Given the description of an element on the screen output the (x, y) to click on. 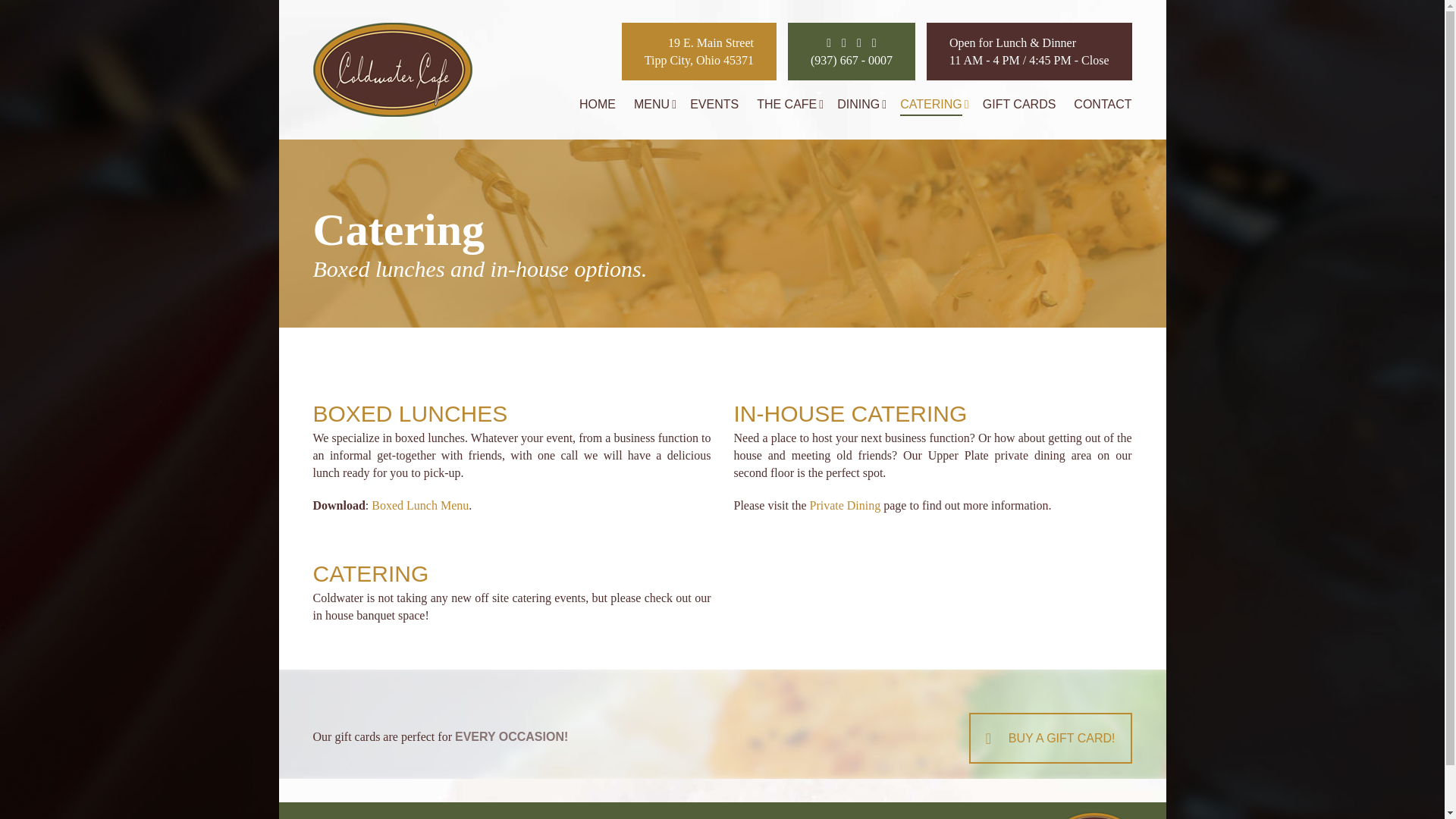
MENU (651, 103)
THE CAFE (786, 103)
HOME (597, 103)
EVENTS (698, 51)
